Given the description of an element on the screen output the (x, y) to click on. 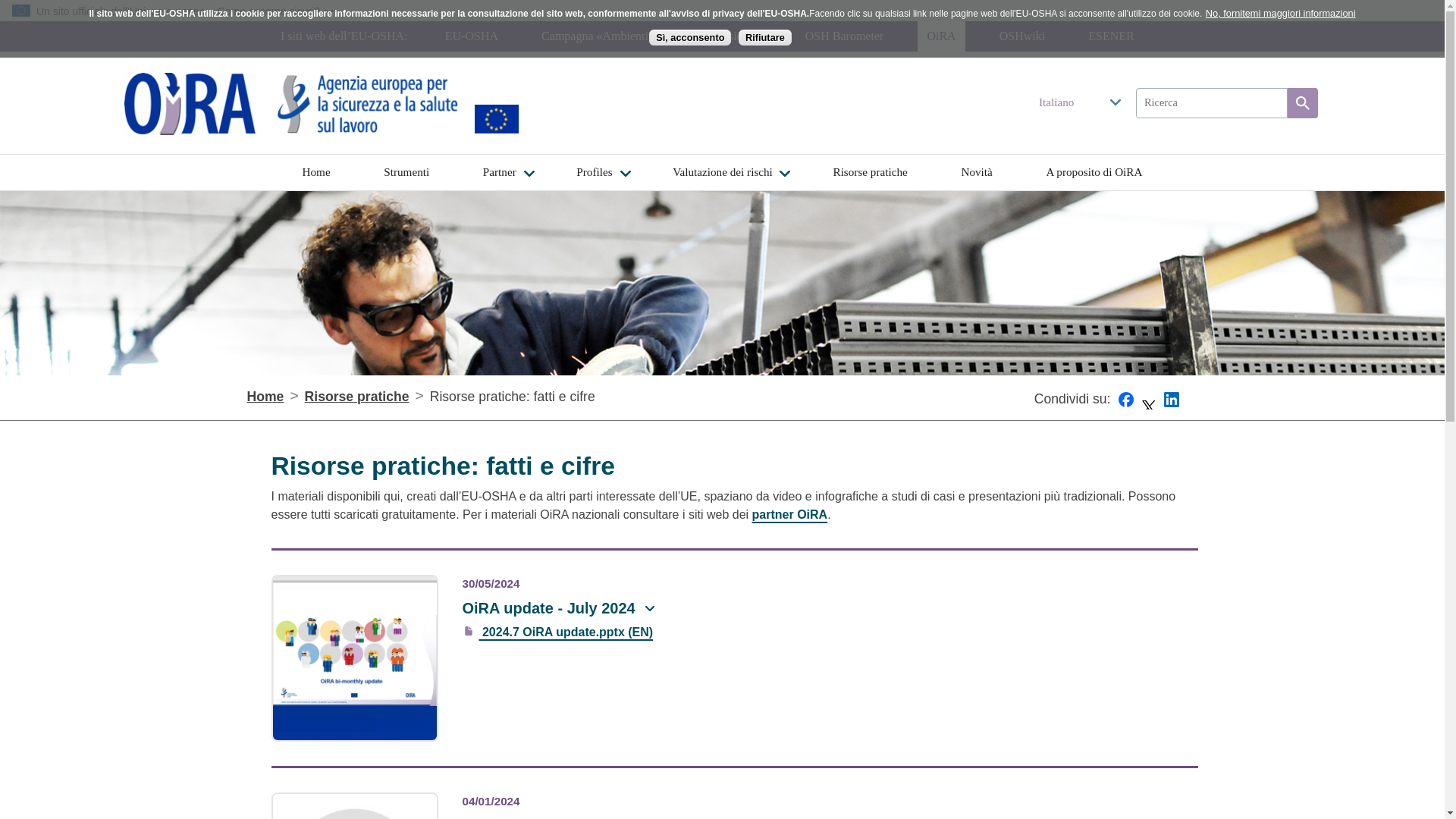
Partner (499, 171)
Facebook (1126, 407)
Apply (1302, 102)
Strumenti (406, 171)
No, fornitemi maggiori informazioni (1280, 12)
OSHwiki (1022, 36)
Image (369, 103)
LinkedIn (1171, 407)
Rifiutare (765, 37)
Twitter (1148, 407)
Salta al contenuto principale (721, 153)
Home (315, 171)
Partner OiRA (790, 513)
ESENER (1110, 36)
Come esserne sicuri? (276, 10)
